Given the description of an element on the screen output the (x, y) to click on. 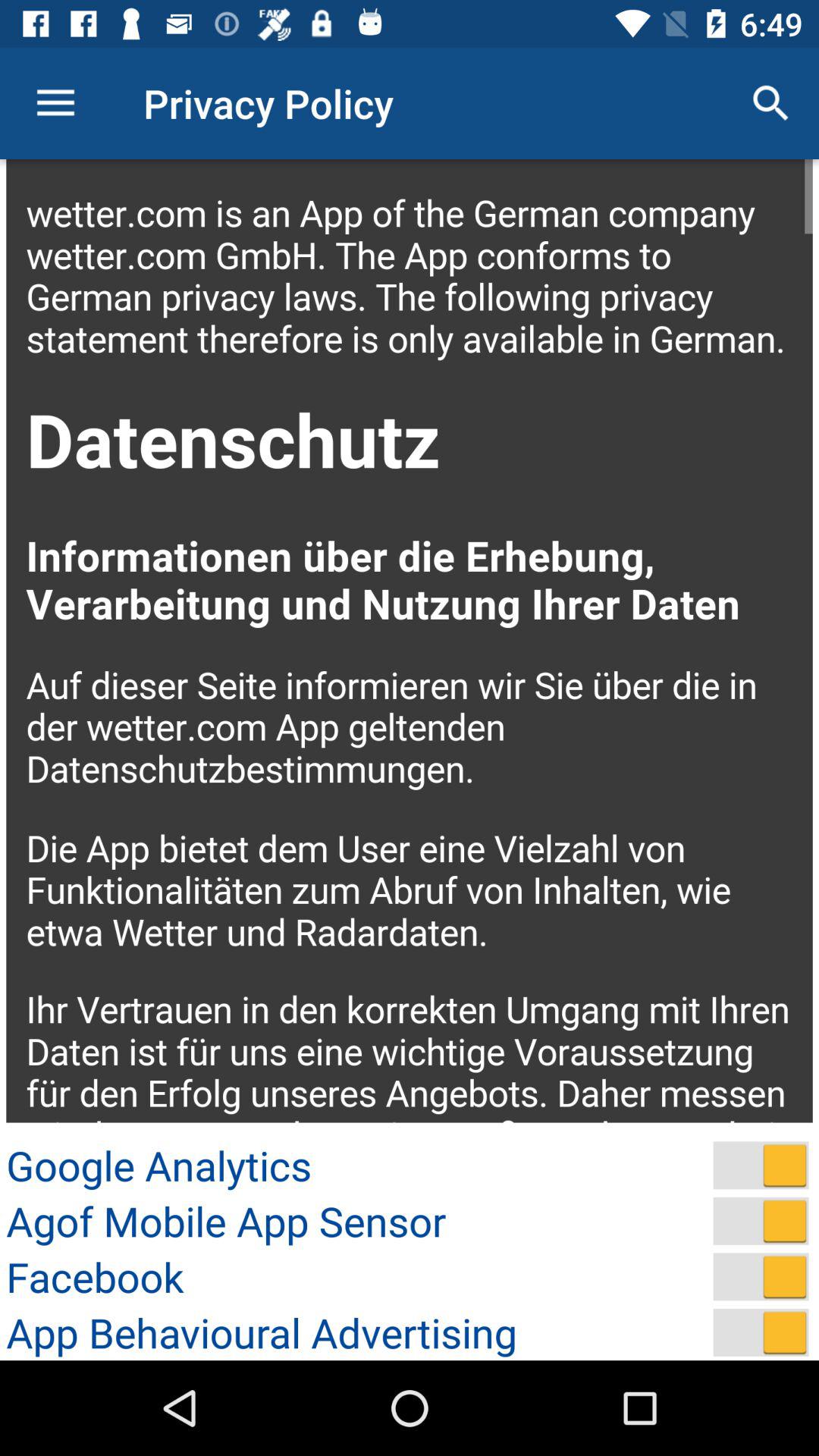
toggle on and off (760, 1220)
